Given the description of an element on the screen output the (x, y) to click on. 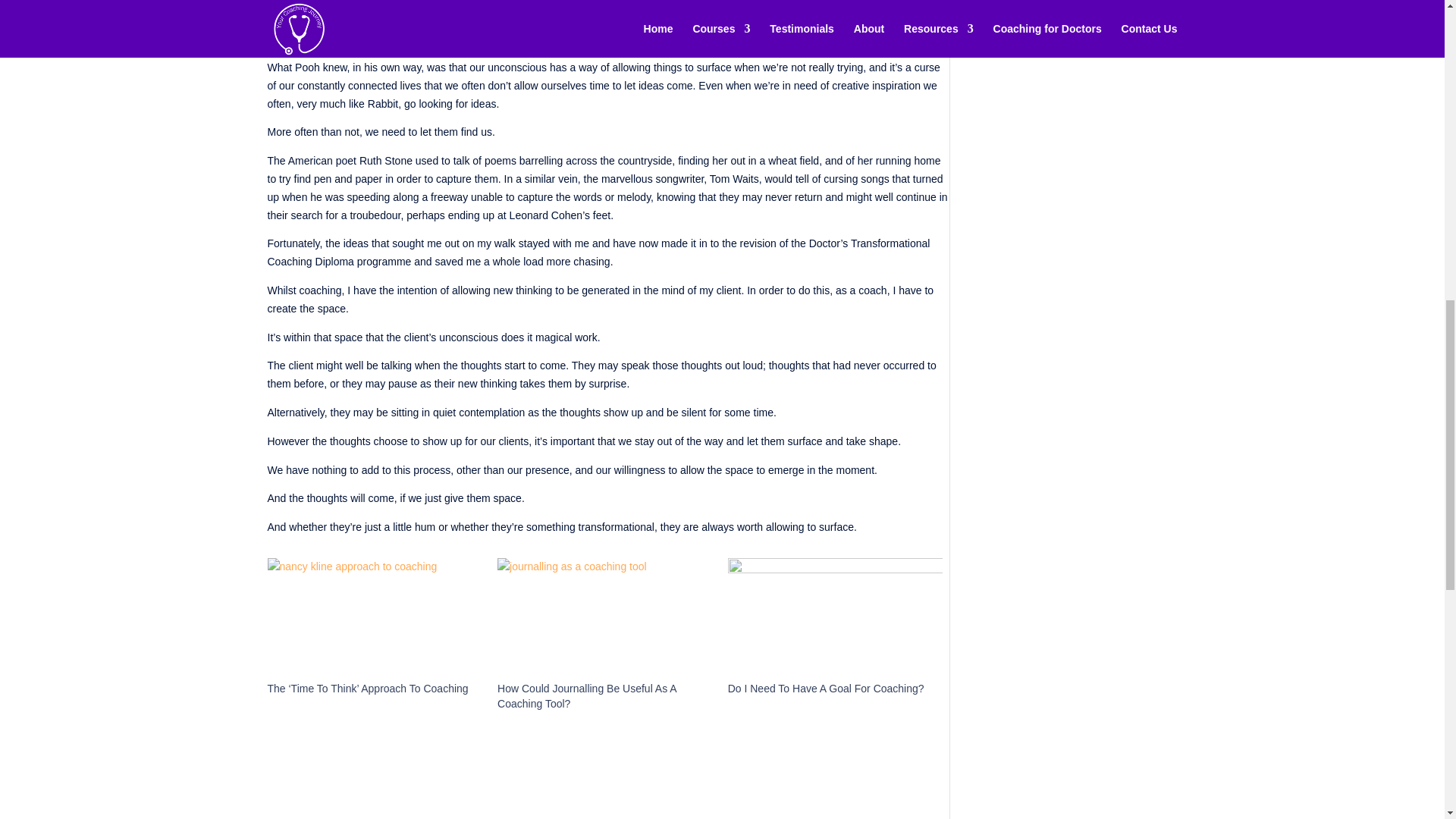
Do I Need To Have A Goal For Coaching? (826, 688)
Do I Need To Have A Goal For Coaching? (826, 688)
How Could Journalling Be Useful As A Coaching Tool? (605, 618)
How Could Journalling Be Useful As A Coaching Tool? (587, 696)
Do I Need To Have A Goal For Coaching? (835, 618)
How Could Journalling Be Useful As A Coaching Tool? (587, 696)
